Given the description of an element on the screen output the (x, y) to click on. 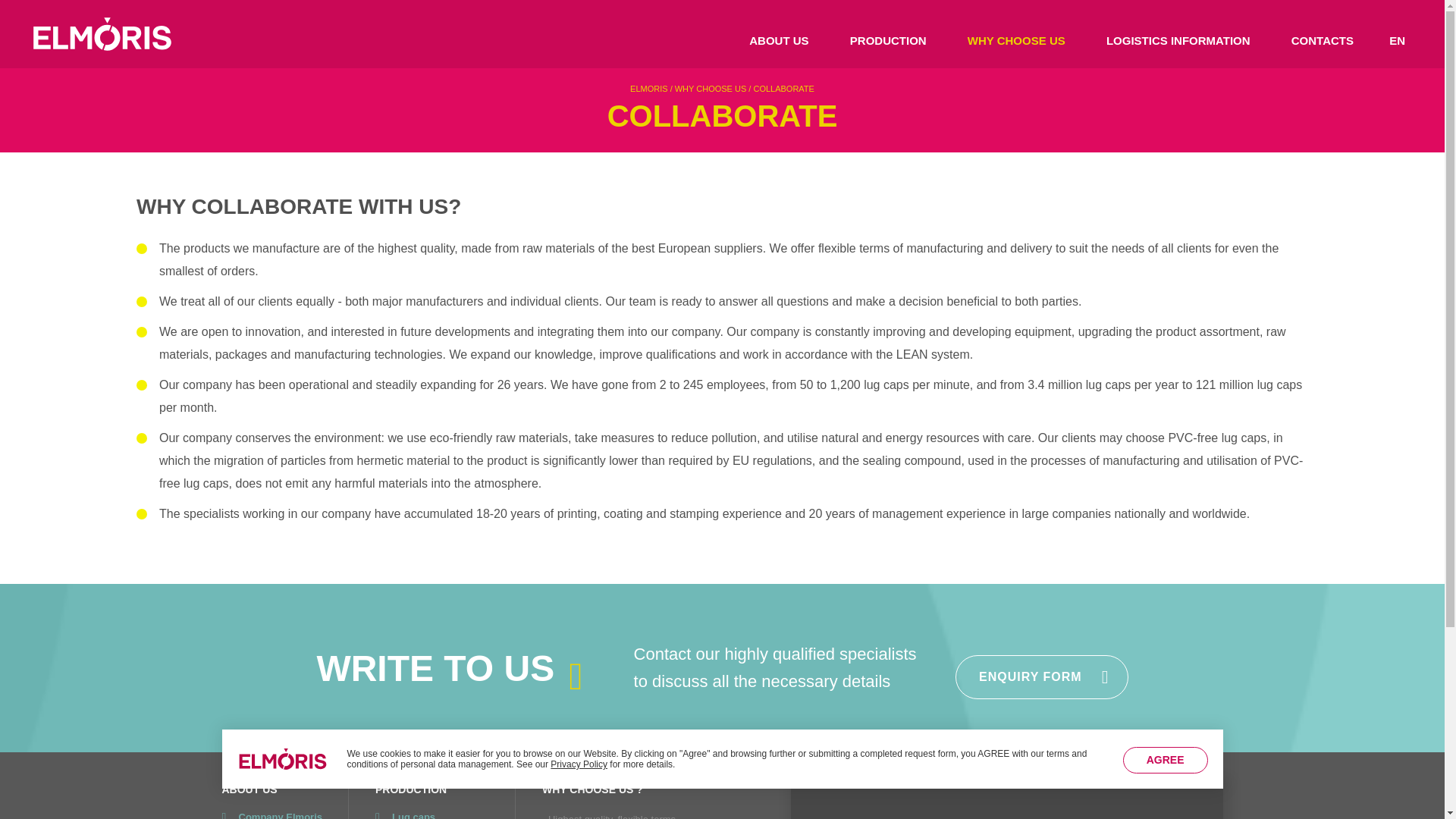
CONTACTS (1322, 40)
LOGISTICS INFORMATION (1178, 40)
EN (1397, 40)
Lug caps (432, 815)
Privacy Policy (578, 764)
ABOUT US (778, 40)
PRODUCTION (888, 40)
AGREE (1165, 759)
Company Elmoris (271, 815)
WHY CHOOSE US (1016, 40)
ENQUIRY FORM (1041, 677)
